Given the description of an element on the screen output the (x, y) to click on. 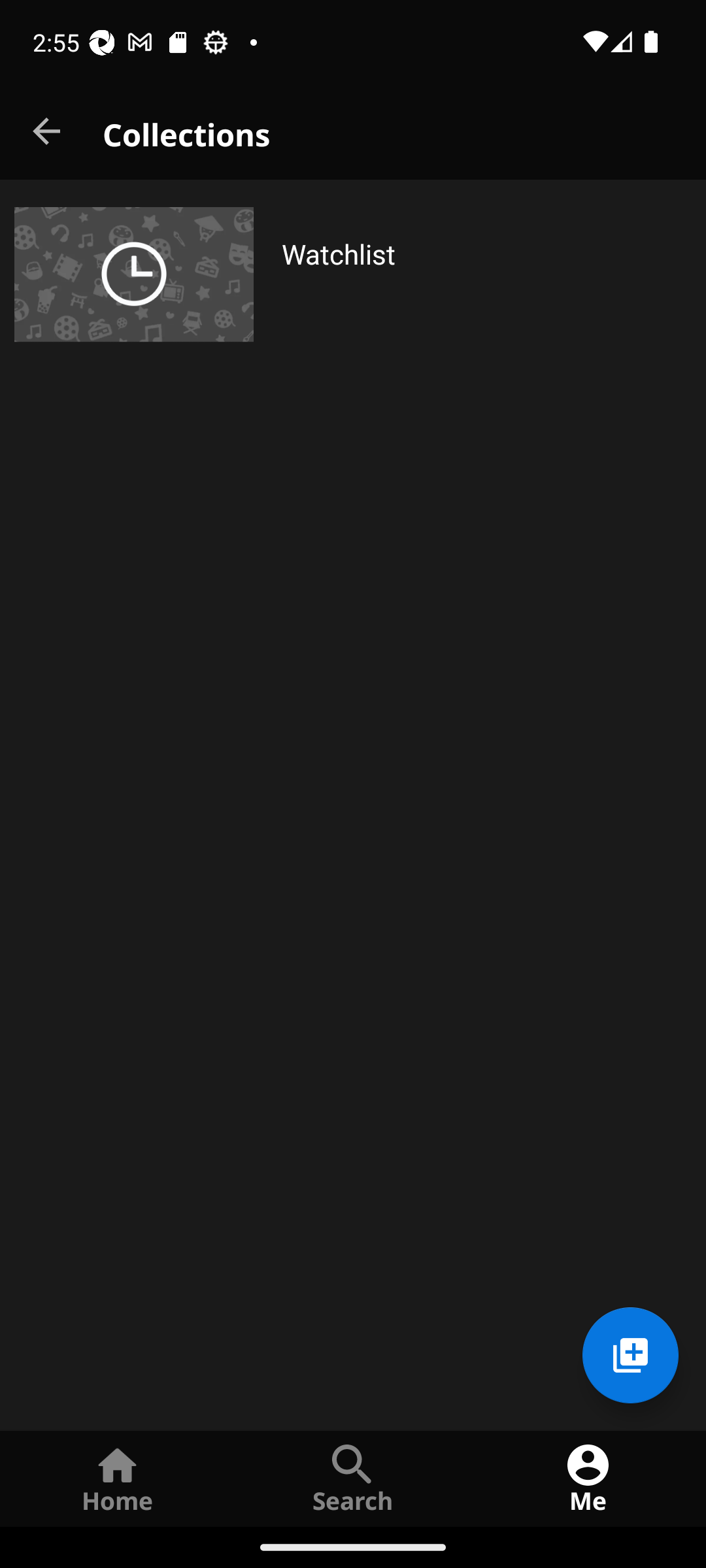
Navigate up (48, 131)
profile_page_user_collection_0 Watchlist (352, 273)
Home (117, 1478)
Search (352, 1478)
